Given the description of an element on the screen output the (x, y) to click on. 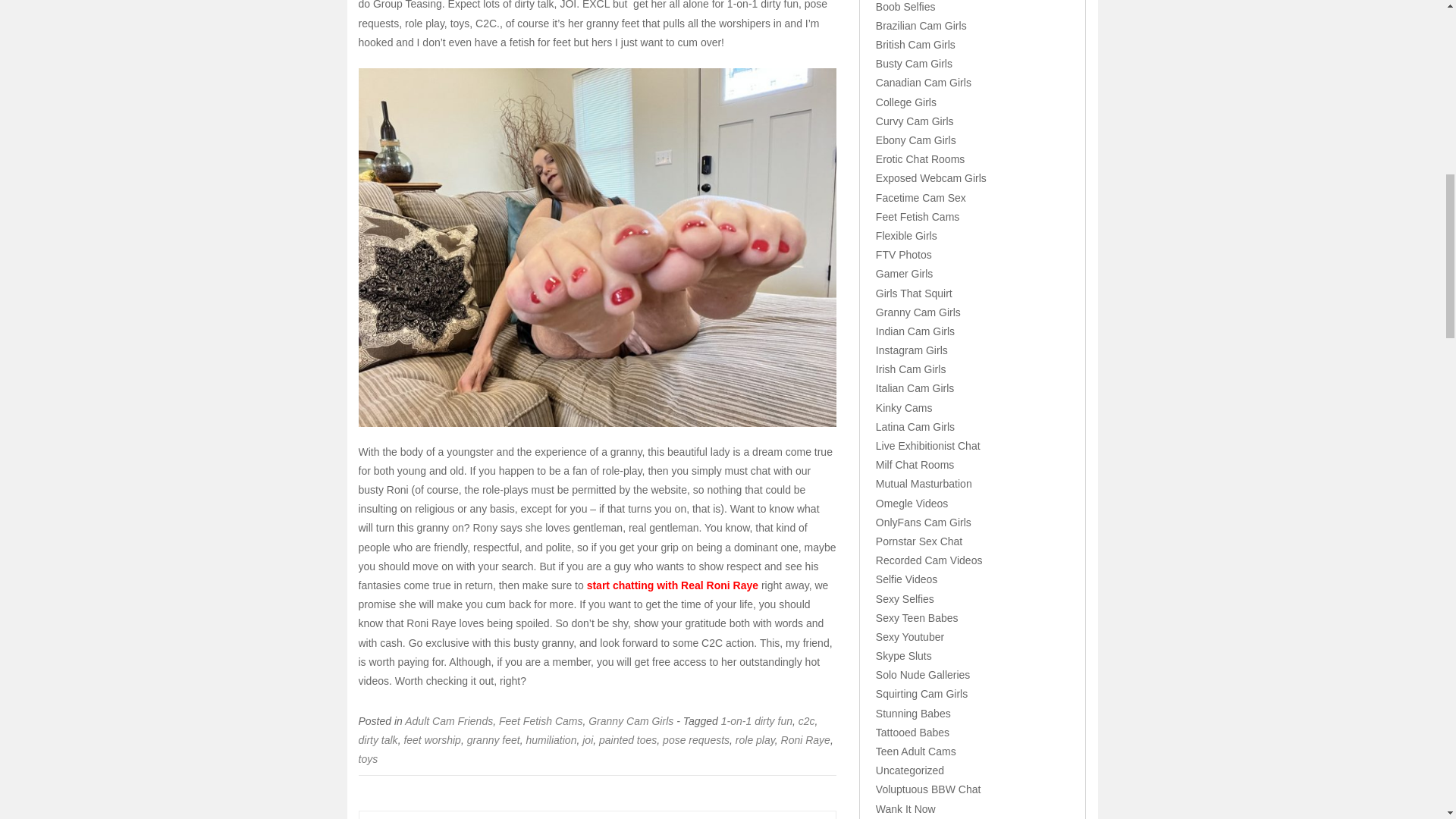
1-on-1 dirty fun (756, 720)
painted toes (627, 739)
humiliation (550, 739)
c2c (806, 720)
toys (367, 758)
Granny Cam Girls (630, 720)
dirty talk (377, 739)
role play (754, 739)
pose requests (695, 739)
start chatting with Real Roni Raye (672, 585)
